Given the description of an element on the screen output the (x, y) to click on. 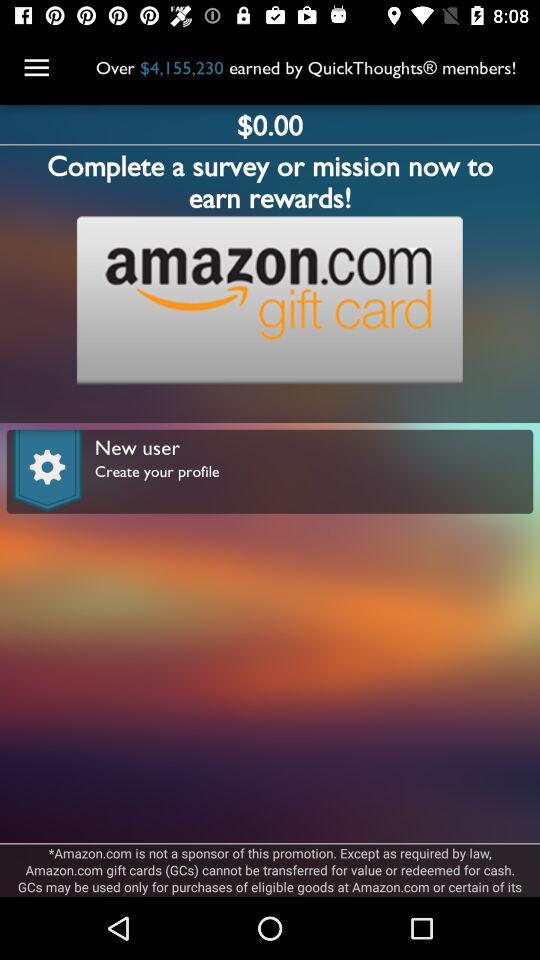
advertisement (269, 300)
